Given the description of an element on the screen output the (x, y) to click on. 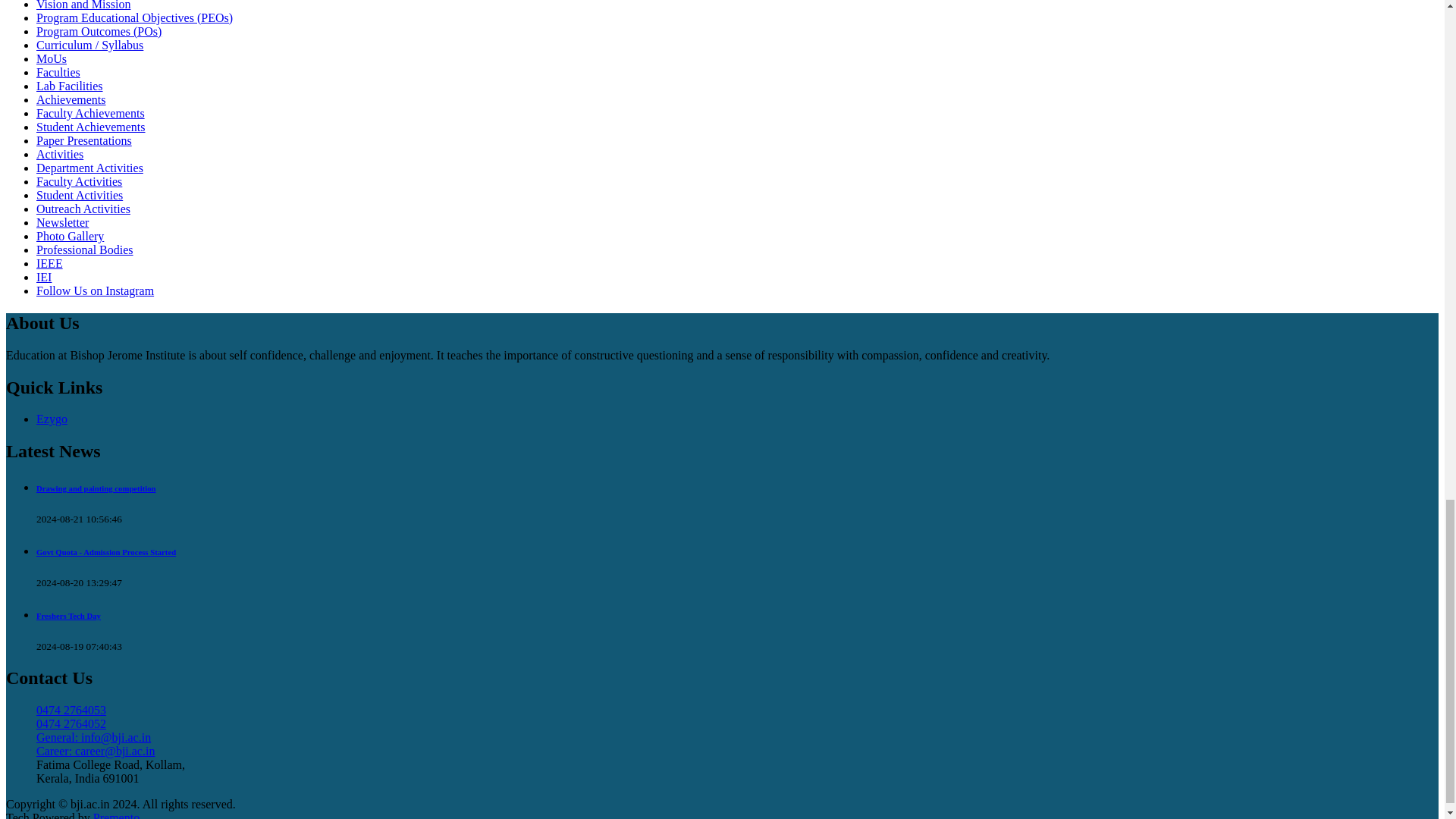
Drawing and painting competition (95, 488)
Freshers Tech Day (68, 614)
Govt Quota - Admission Process Started (106, 551)
